Given the description of an element on the screen output the (x, y) to click on. 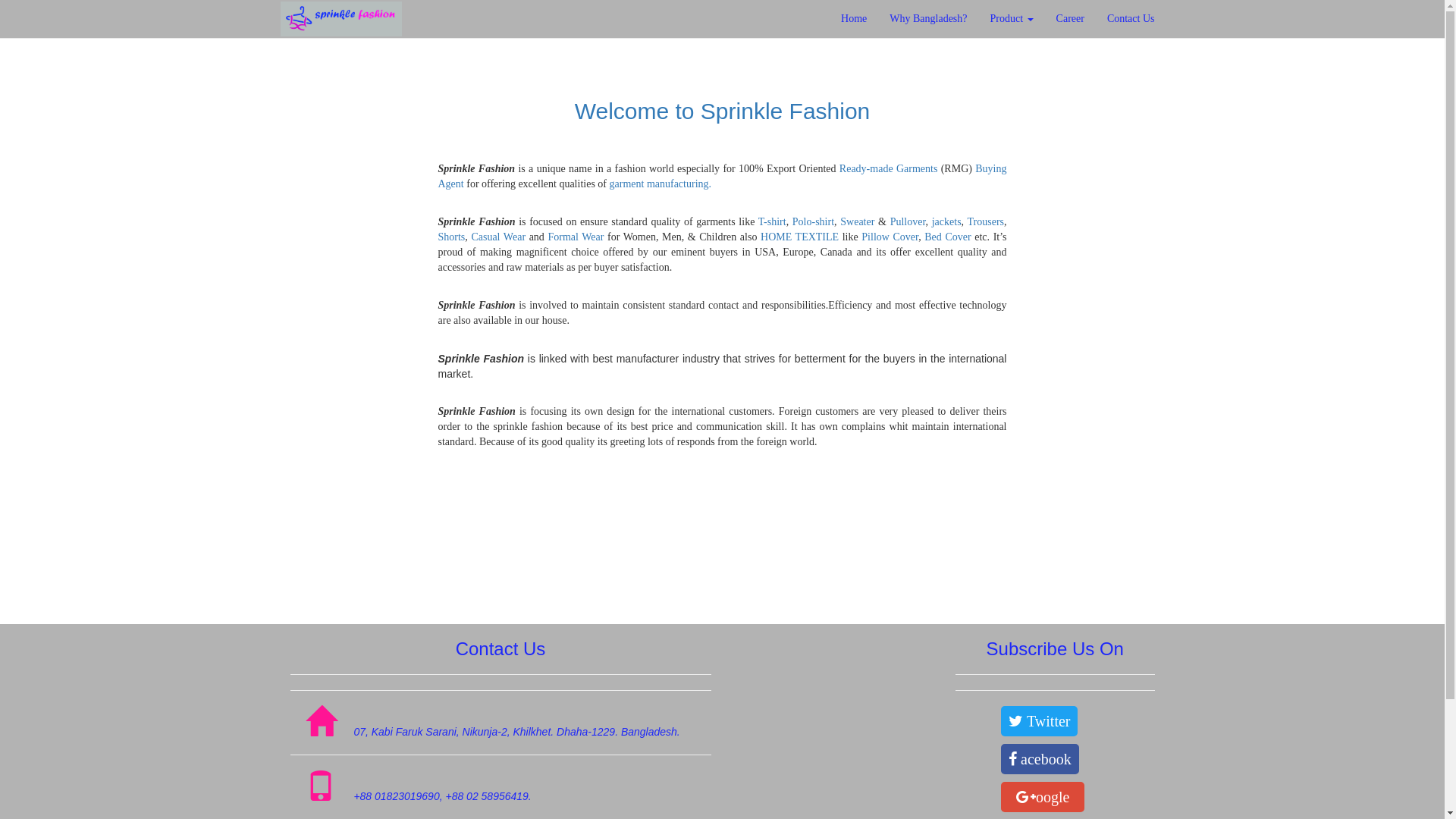
Formal Wear Element type: text (575, 236)
Ready-made Garments Element type: text (888, 168)
Trousers Element type: text (985, 221)
Career Element type: text (1069, 18)
oogle Element type: text (1042, 796)
HOME TEXTILE Element type: text (799, 236)
Twitter Element type: text (1039, 721)
Pullover Element type: text (907, 221)
acebook Element type: text (1040, 758)
Product Element type: text (1011, 18)
Contact Us Element type: text (1130, 18)
Sweater Element type: text (859, 221)
garment manufacturing. Element type: text (660, 183)
Buying Agent Element type: text (722, 176)
Polo-shirt Element type: text (813, 221)
Why Bangladesh? Element type: text (928, 18)
T-shirt Element type: text (772, 221)
Home Element type: text (853, 18)
jackets Element type: text (946, 221)
Pillow Cover Element type: text (889, 236)
Shorts Element type: text (451, 236)
Bed Cover Element type: text (947, 236)
Casual Wear Element type: text (497, 236)
